Given the description of an element on the screen output the (x, y) to click on. 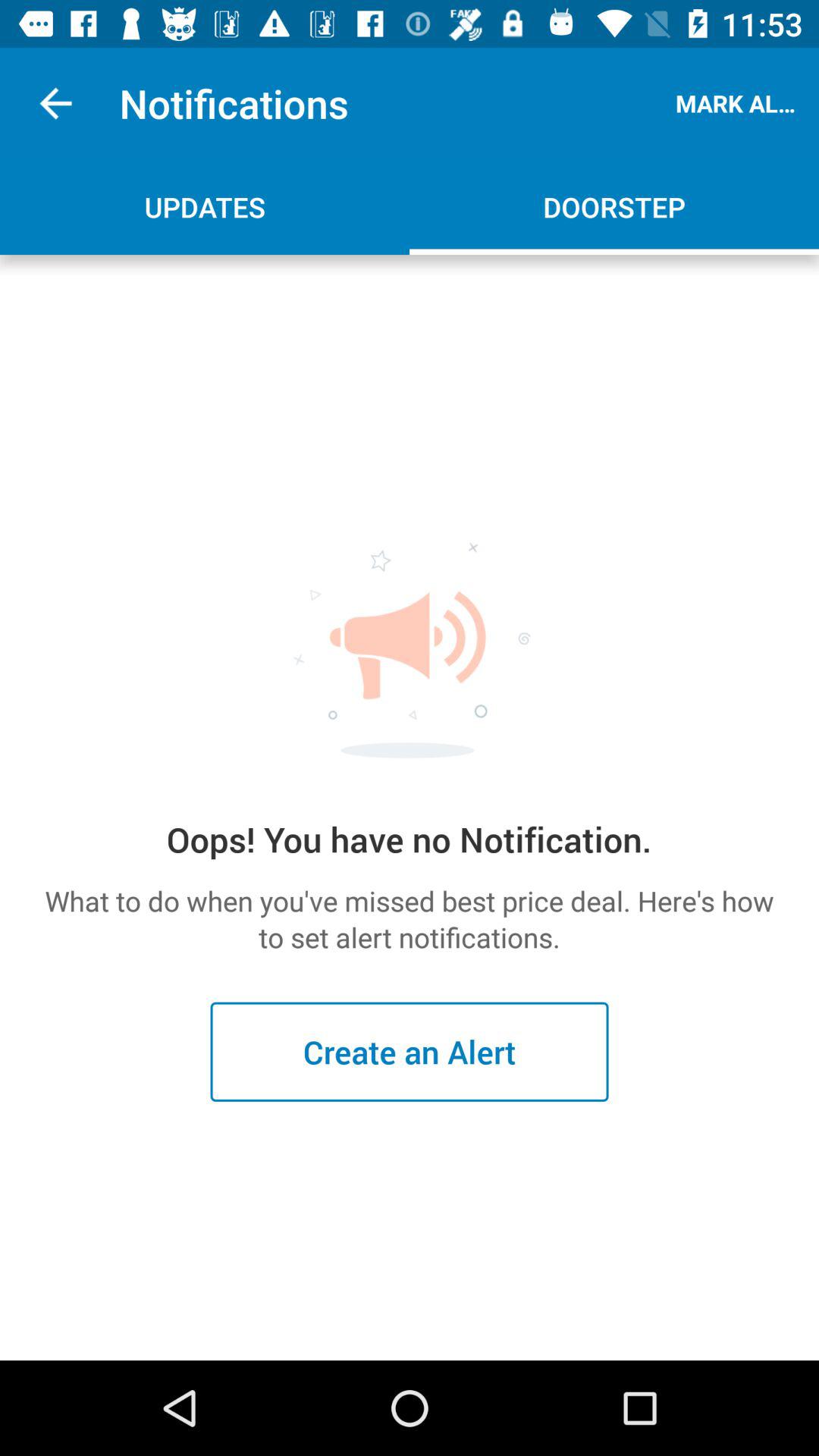
flip until the mark all read item (739, 103)
